Given the description of an element on the screen output the (x, y) to click on. 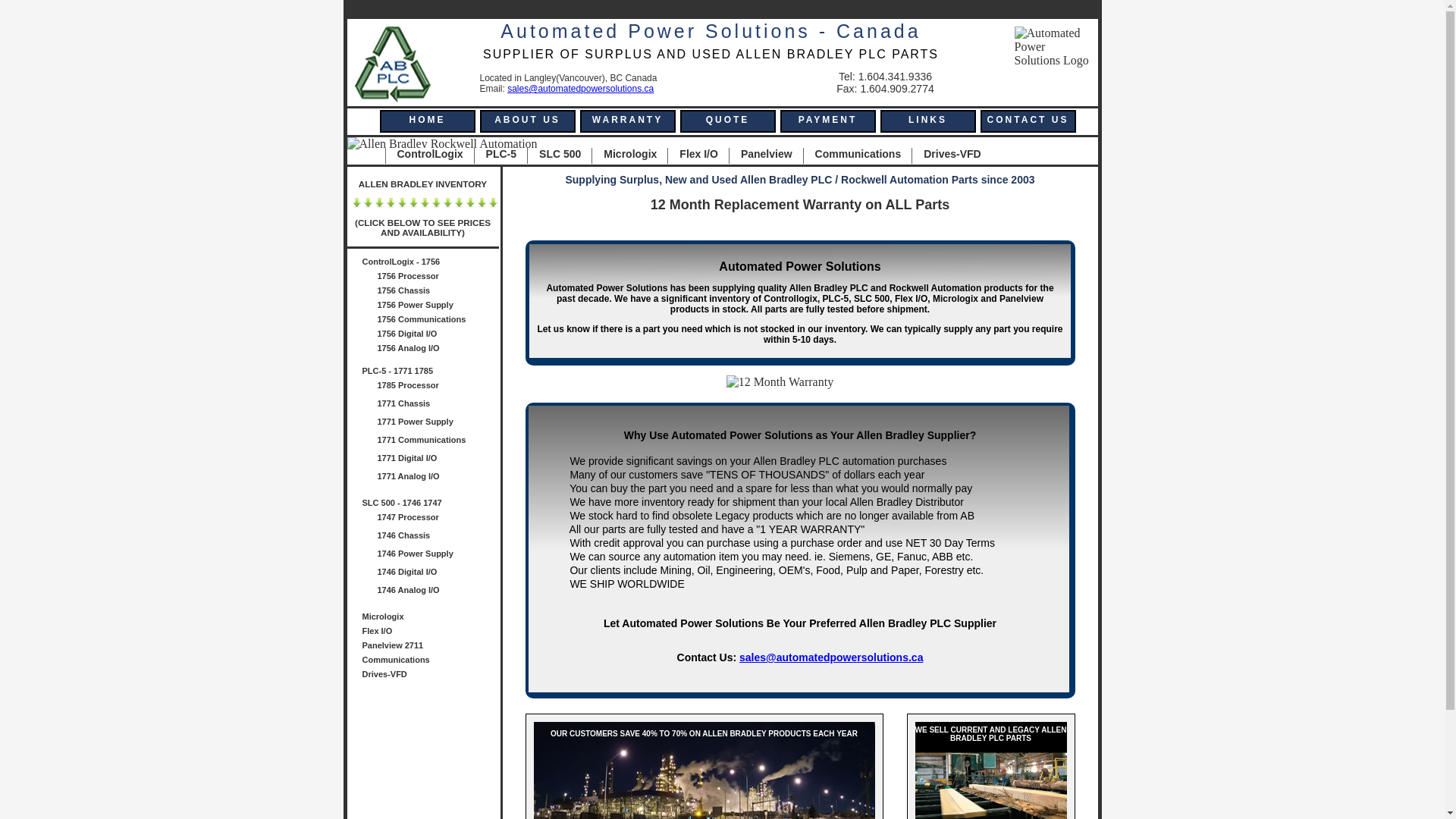
PAYMENT Element type: text (827, 120)
SLC 500 - 1746 1747 Element type: text (430, 504)
1771 Chassis Element type: text (437, 404)
Flex I/O Element type: text (430, 632)
Located in Beautiful British Columbia Canada Element type: hover (1052, 46)
Drives-VFD Element type: text (945, 155)
SLC 500 Element type: text (553, 155)
LINKS Element type: text (927, 120)
PLC-5 - 1771 1785 Element type: text (430, 372)
ABOUT US Element type: text (526, 120)
sales@automatedpowersolutions.ca Element type: text (580, 88)
Used Allen Bradley Surplus Supplier Element type: hover (392, 64)
PLC-5 Element type: text (494, 155)
1756 Digital I/O Element type: text (437, 335)
1771 Communications Element type: text (437, 441)
Micrologix Element type: text (623, 155)
1746 Power Supply Element type: text (437, 555)
sales@automatedpowersolutions.ca Element type: text (830, 657)
1746 Chassis Element type: text (437, 536)
Communications Element type: text (430, 661)
Drives-VFD Element type: text (430, 675)
1771 Analog I/O Element type: text (437, 477)
Micrologix Element type: text (430, 617)
WARRANTY Element type: text (626, 120)
Allen Bradley Rockwell Automation Supplier Element type: hover (442, 143)
Communications Element type: text (852, 155)
1746 Digital I/O Element type: text (437, 573)
Flex I/O Element type: text (692, 155)
1756 Communications Element type: text (437, 320)
ControlLogix - 1756 Element type: text (430, 263)
1756 Analog I/O Element type: text (437, 349)
ControlLogix Element type: text (424, 155)
HOME Element type: text (426, 120)
1756 Processor Element type: text (437, 277)
1771 Power Supply Element type: text (437, 423)
QUOTE Element type: text (727, 120)
CONTACT US Element type: text (1027, 120)
1756 Power Supply Element type: text (437, 306)
1785 Processor Element type: text (437, 386)
Panelview Element type: text (760, 155)
1746 Analog I/O Element type: text (437, 591)
1747 Processor Element type: text (437, 518)
Panelview 2711 Element type: text (430, 646)
1756 Chassis Element type: text (437, 291)
1771 Digital I/O Element type: text (437, 459)
